Given the description of an element on the screen output the (x, y) to click on. 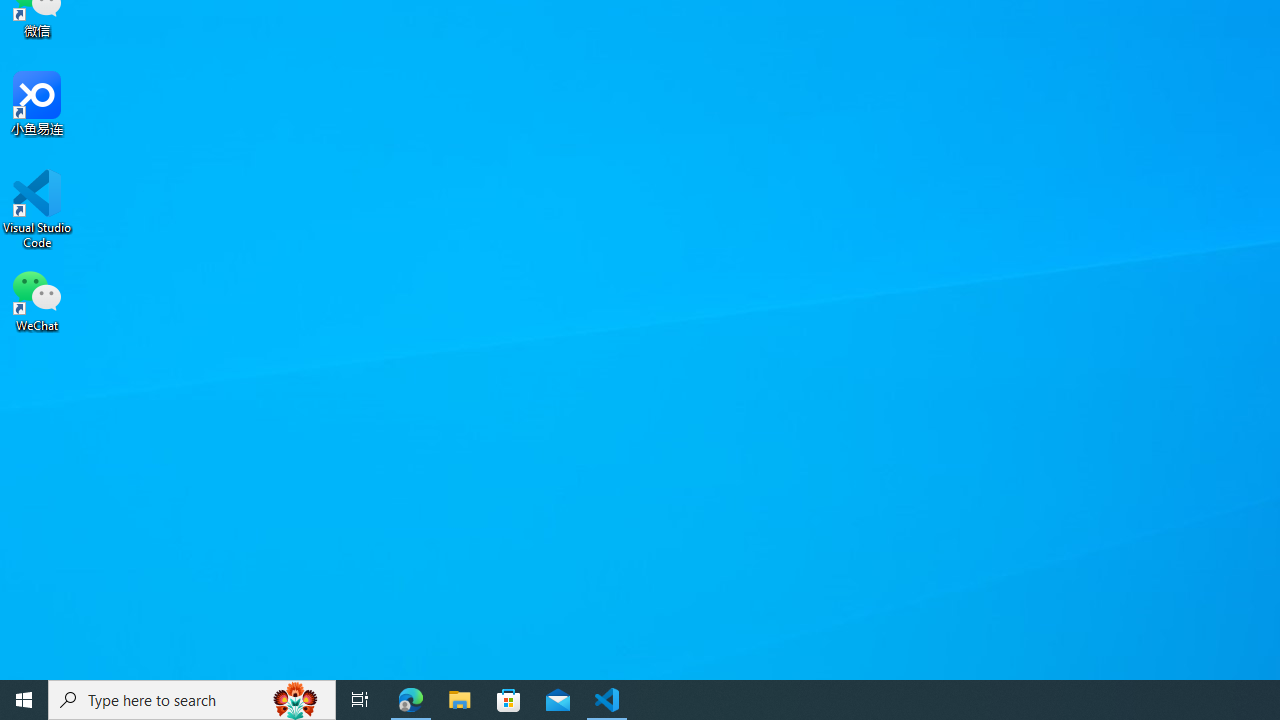
Microsoft Edge - 1 running window (411, 699)
Visual Studio Code - 1 running window (607, 699)
Start (24, 699)
File Explorer (460, 699)
Microsoft Store (509, 699)
Search highlights icon opens search home window (295, 699)
Type here to search (191, 699)
WeChat (37, 299)
Visual Studio Code (37, 209)
Task View (359, 699)
